Given the description of an element on the screen output the (x, y) to click on. 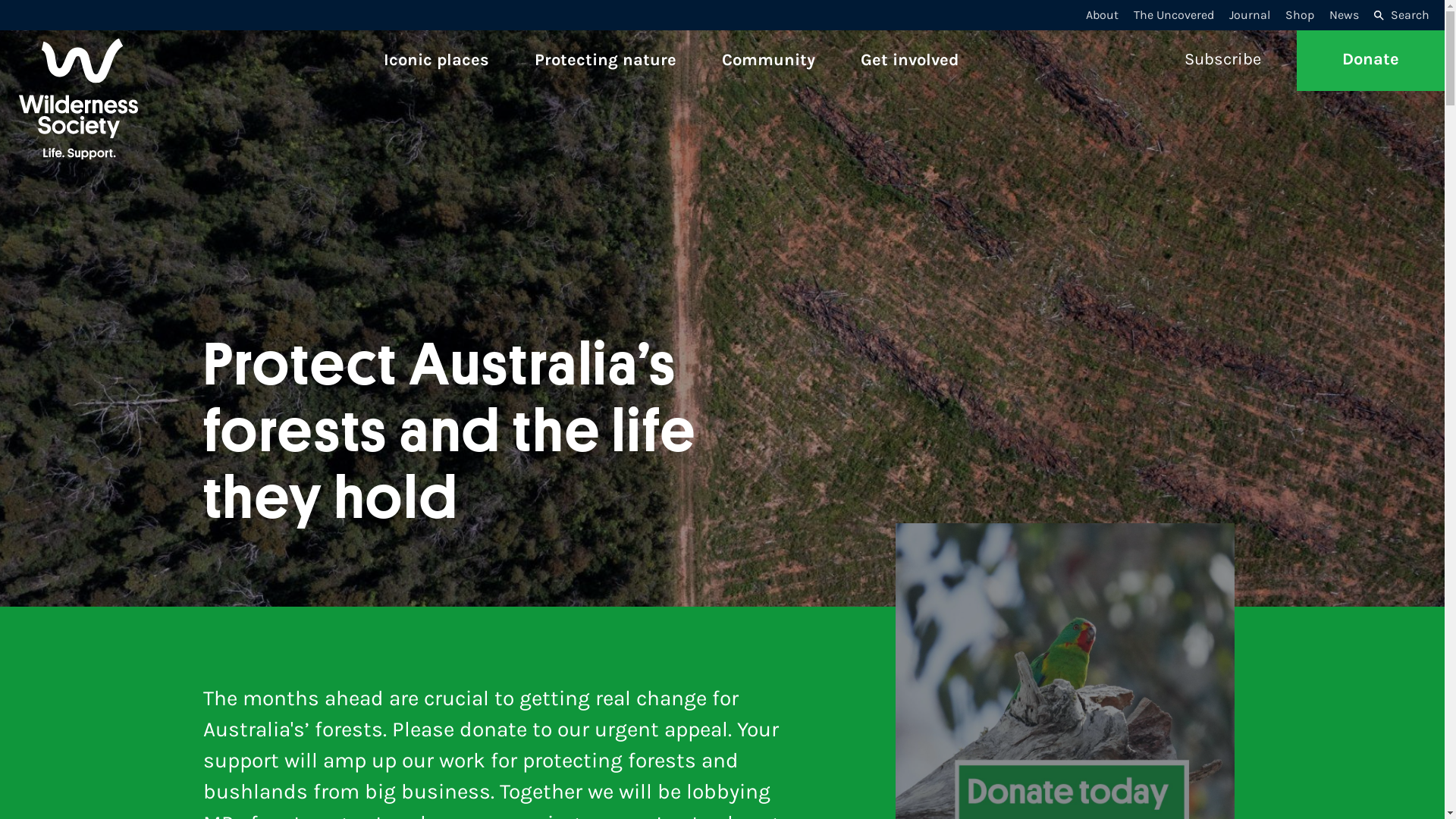
Search Element type: text (1401, 15)
News Element type: text (1343, 15)
The Uncovered Element type: text (1173, 15)
Donate Element type: text (1370, 60)
Iconic places Element type: text (435, 60)
Community Element type: text (768, 60)
Wilderness Society Element type: text (112, 60)
About Element type: text (1101, 15)
Subscribe Element type: text (1222, 60)
Journal Element type: text (1249, 15)
Get involved Element type: text (909, 60)
Shop Element type: text (1299, 15)
Protecting nature Element type: text (605, 60)
